Given the description of an element on the screen output the (x, y) to click on. 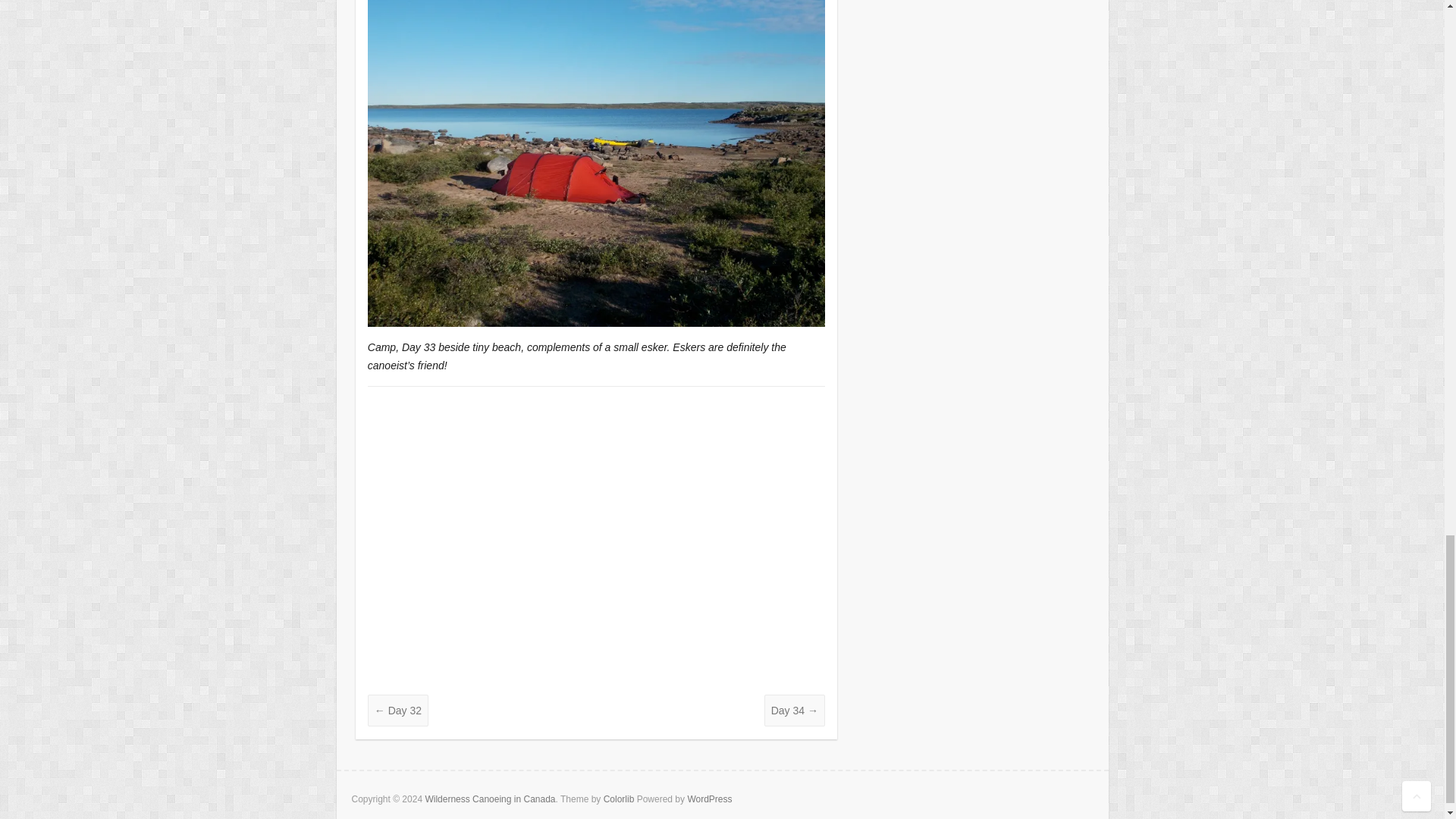
Colorlib (619, 798)
Wilderness Canoeing in Canada (489, 798)
WordPress (709, 798)
Wilderness Canoeing in Canada (489, 798)
WordPress (709, 798)
Colorlib (619, 798)
